Given the description of an element on the screen output the (x, y) to click on. 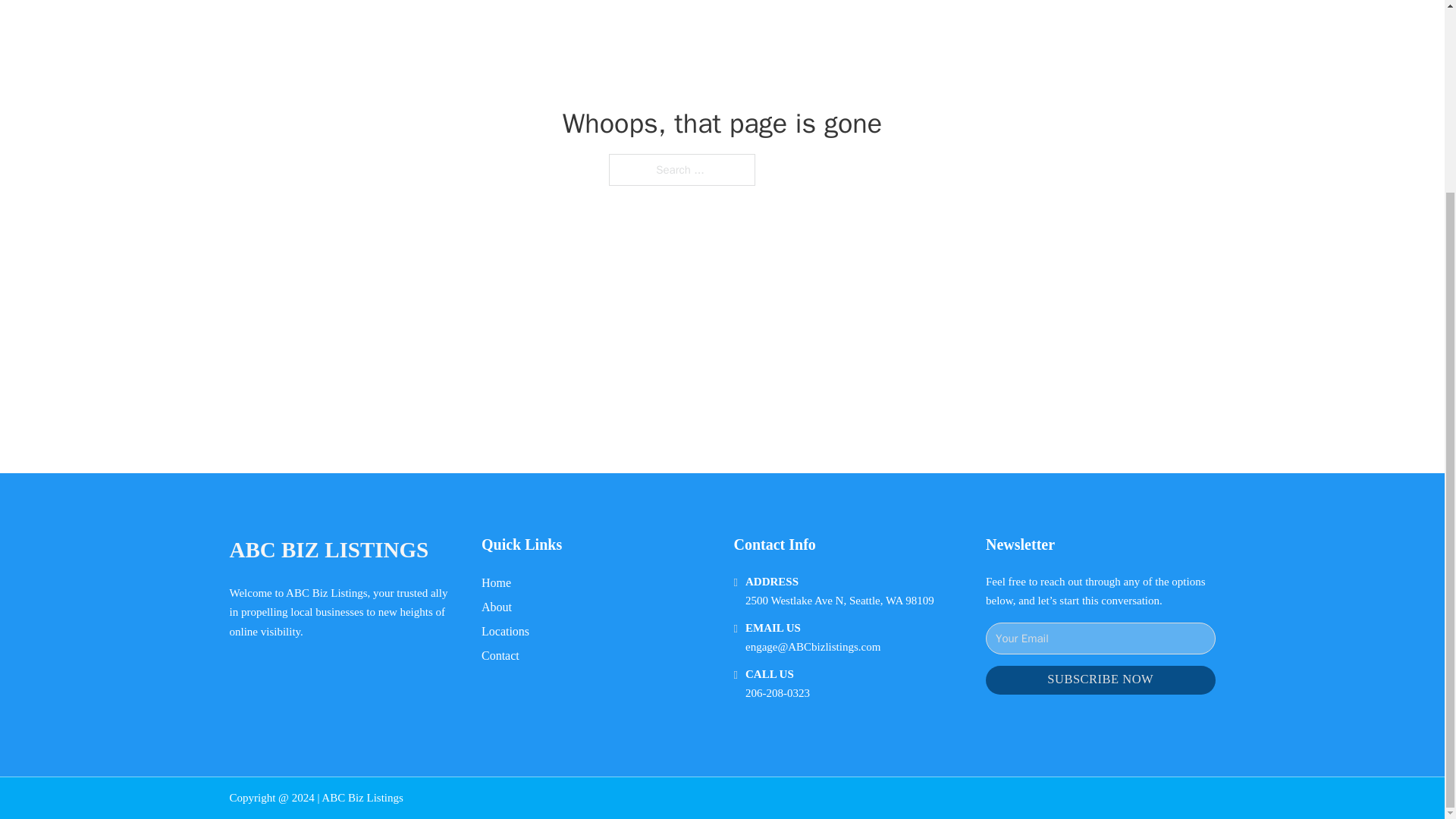
About (496, 607)
Locations (505, 630)
SUBSCRIBE NOW (1100, 680)
Contact (500, 655)
Home (496, 582)
206-208-0323 (777, 693)
ABC BIZ LISTINGS (328, 549)
